Given the description of an element on the screen output the (x, y) to click on. 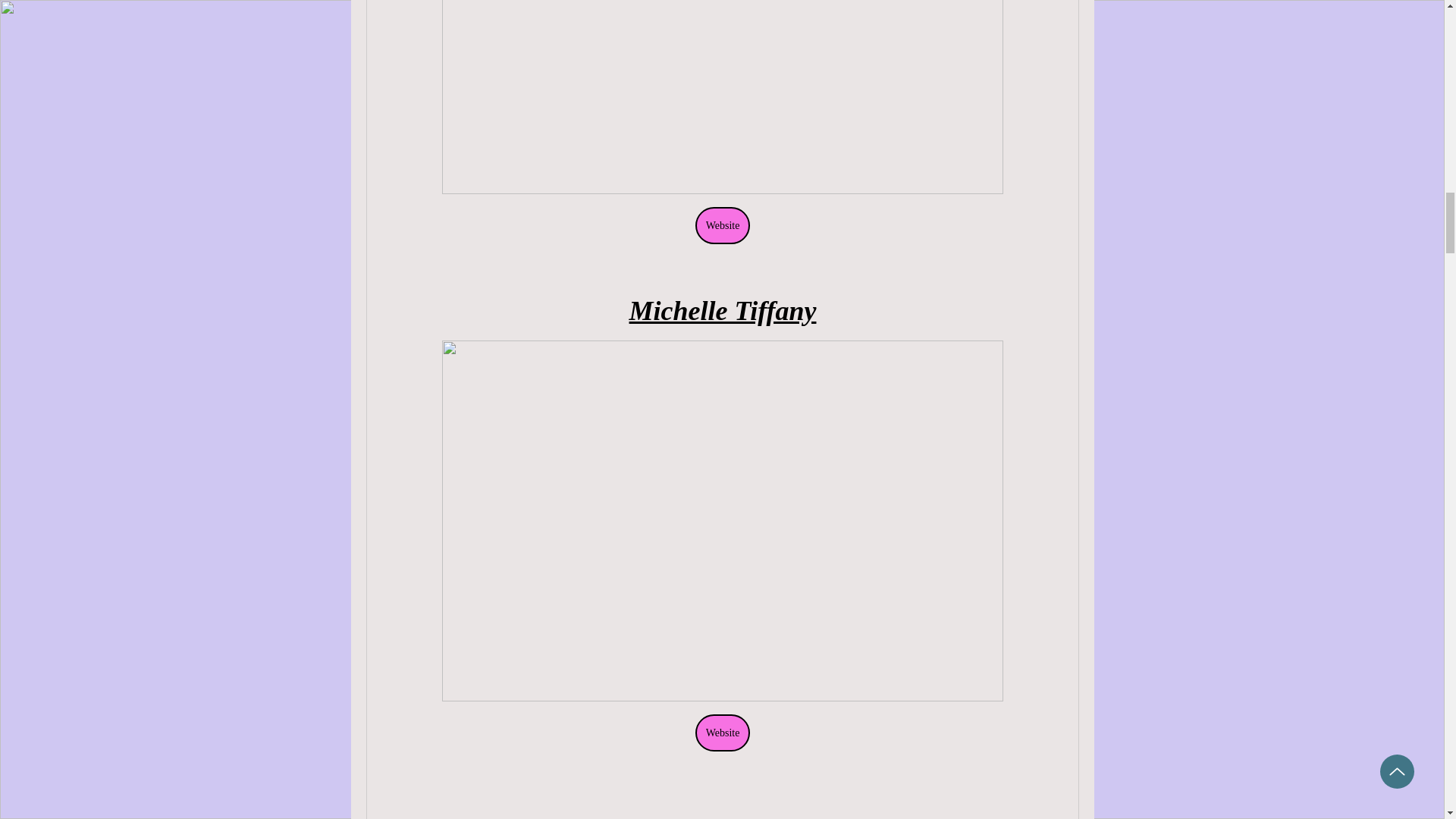
Website (721, 225)
Website (721, 732)
